Given the description of an element on the screen output the (x, y) to click on. 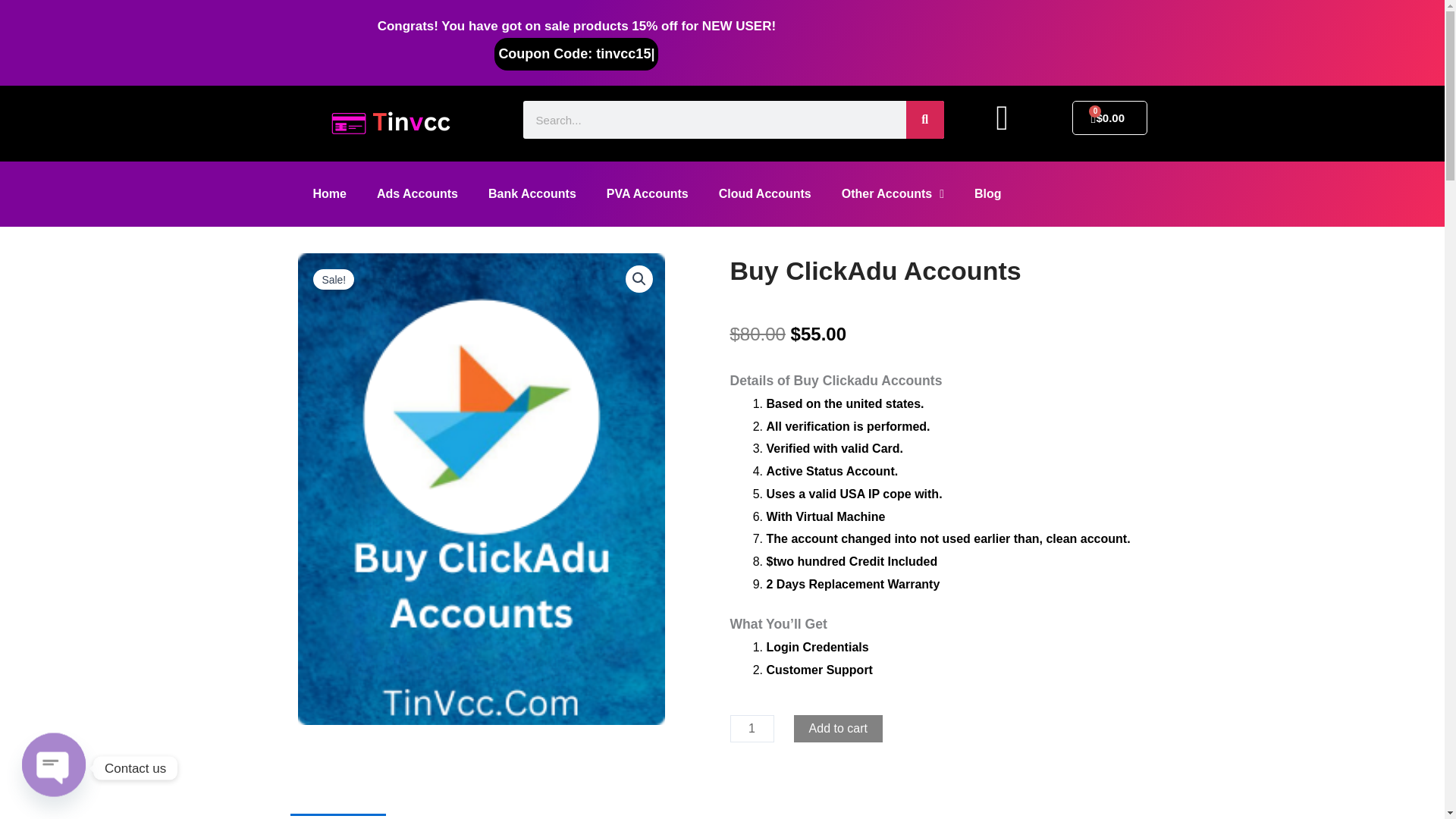
Description (337, 816)
Other Accounts (893, 193)
PVA Accounts (647, 193)
Add to cart (837, 728)
Ads Accounts (417, 193)
Blog (987, 193)
Bank Accounts (532, 193)
Search (924, 119)
Home (329, 193)
1 (751, 728)
Cloud Accounts (765, 193)
